Given the description of an element on the screen output the (x, y) to click on. 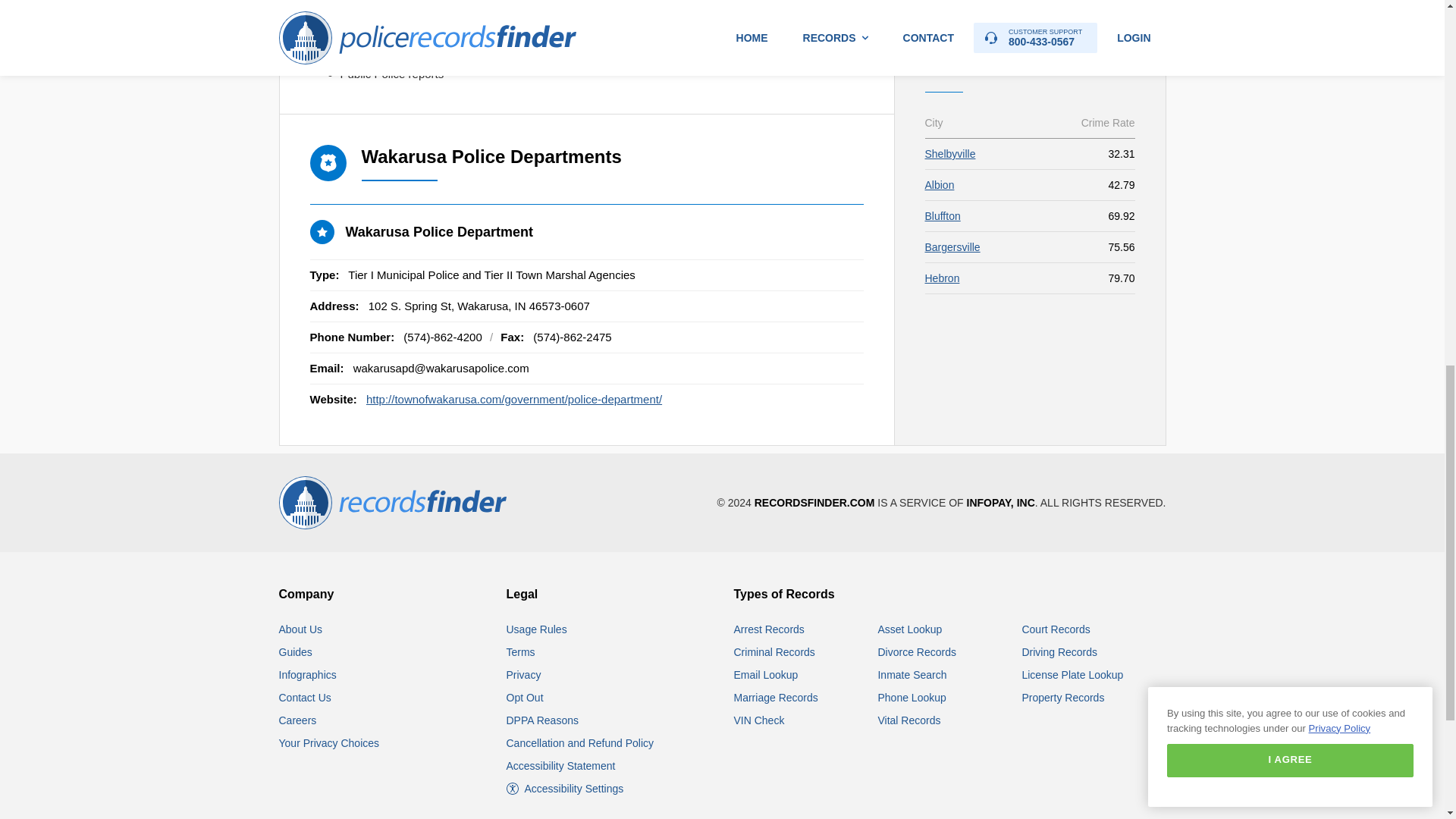
Careers at RecordsFinder.com (298, 720)
RecordsFinder.com Terms and Conditions (520, 652)
RecordsFinder.com Opt Out Instructions (524, 697)
RecordsFinder.com Cancellation and Refund Policy (579, 743)
RecordsFinder.com DPPA Reasons (542, 720)
Contact RecordsFinder.com (305, 697)
About RecordsFinder.com (301, 629)
RecordsFinder.com Accessibility Statement (560, 766)
View Public Records Infographics and Statistics (307, 674)
RecordsFinder.com Privacy Policy (523, 674)
